Given the description of an element on the screen output the (x, y) to click on. 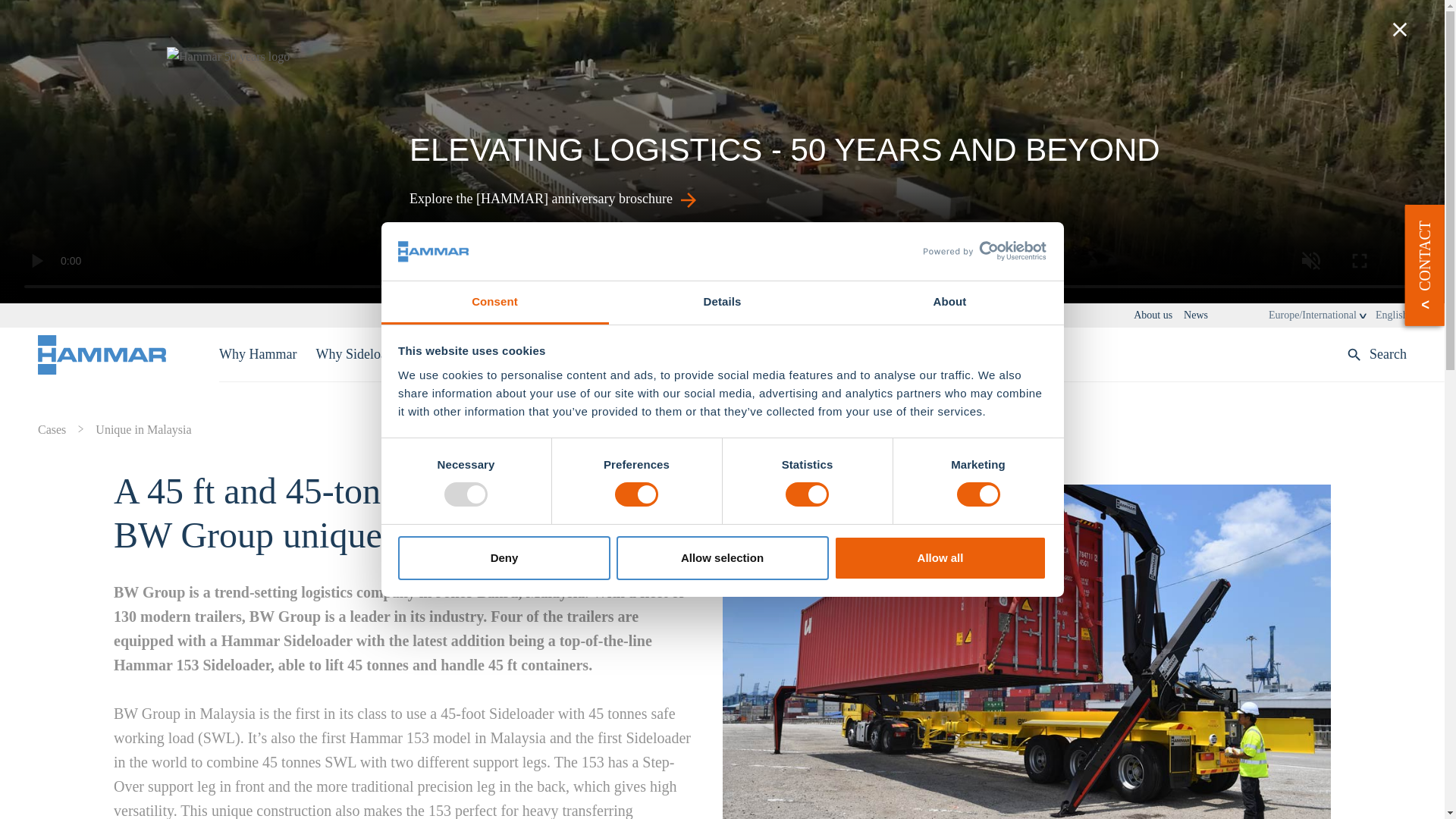
Details (721, 302)
Consent (494, 302)
Deny (503, 557)
About (948, 302)
